Given the description of an element on the screen output the (x, y) to click on. 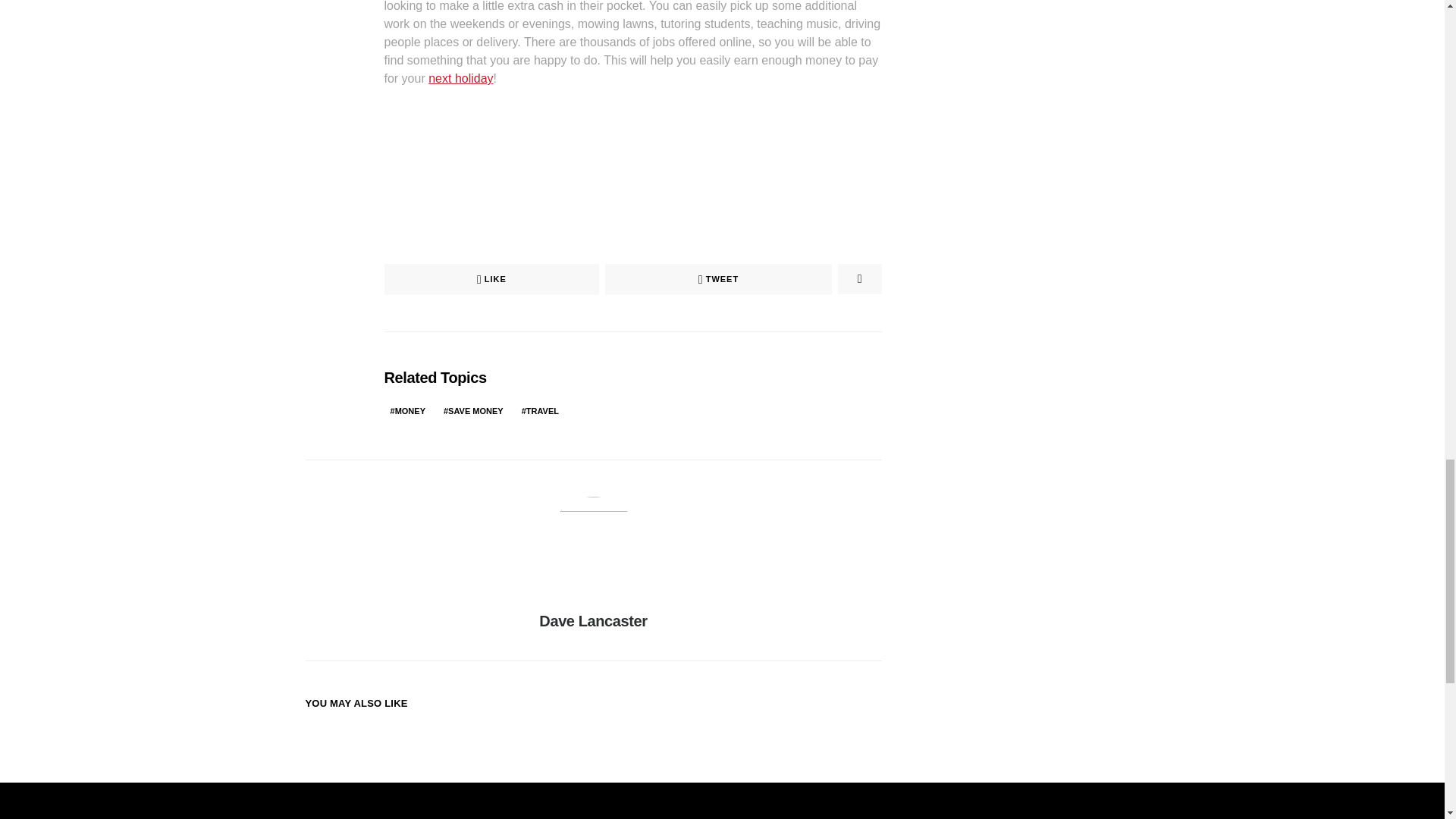
next holiday (460, 78)
TRAVEL (539, 410)
TWEET (718, 278)
LIKE (491, 278)
SAVE MONEY (473, 410)
Dave Lancaster (592, 620)
MONEY (407, 410)
